Given the description of an element on the screen output the (x, y) to click on. 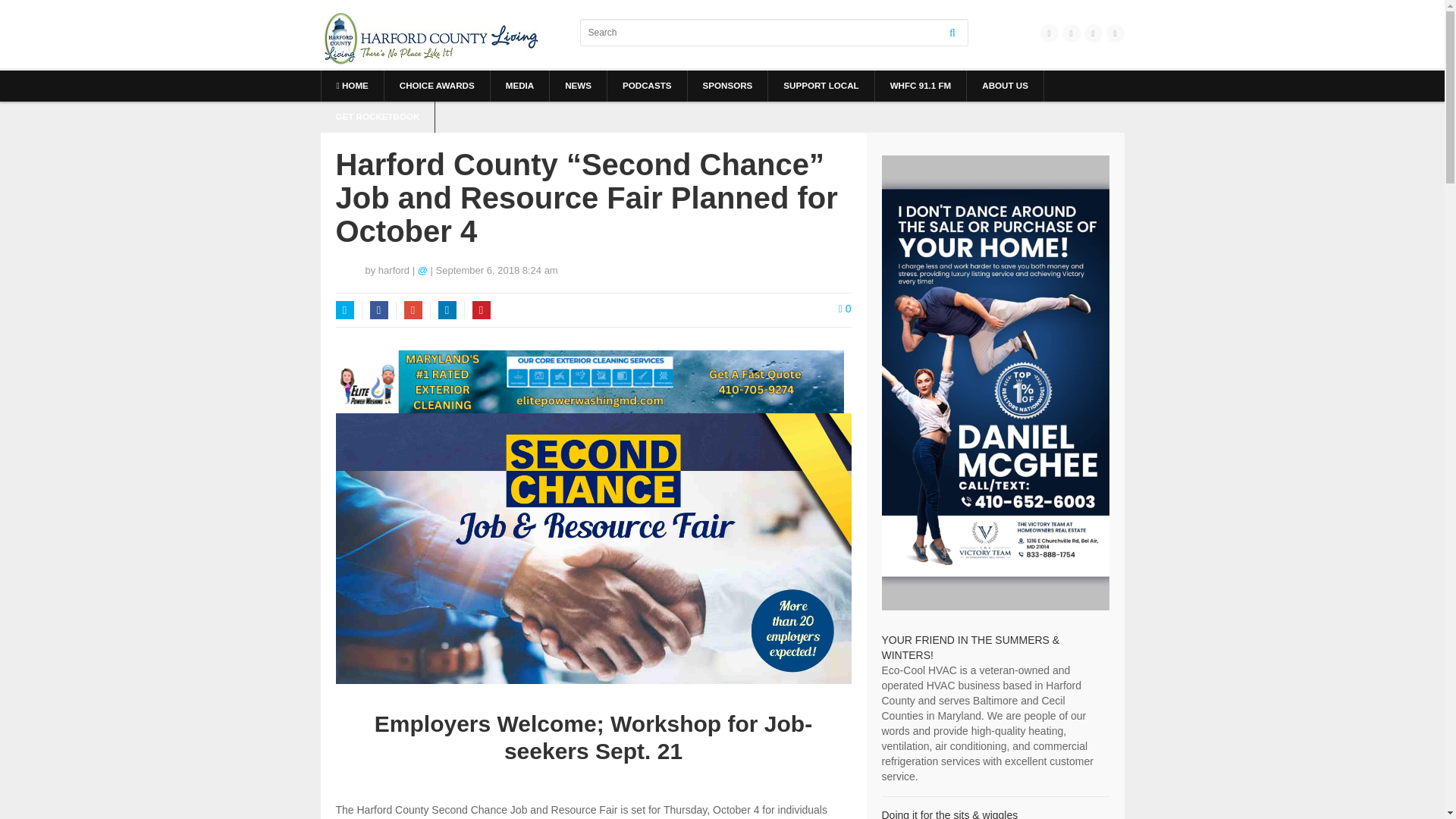
GET ROCKETBOOK (376, 116)
MEDIA (519, 85)
harford (393, 270)
CHOICE AWARDS (436, 85)
HOME (352, 85)
ABOUT US (1004, 85)
Eco-Cool HVAC (969, 646)
Facebook (378, 310)
SUPPORT LOCAL (820, 85)
Your Pet AuPair (948, 814)
SPONSORS (727, 85)
NEWS (578, 85)
PODCASTS (647, 85)
Twitter (343, 310)
WHFC 91.1 FM (920, 85)
